Given the description of an element on the screen output the (x, y) to click on. 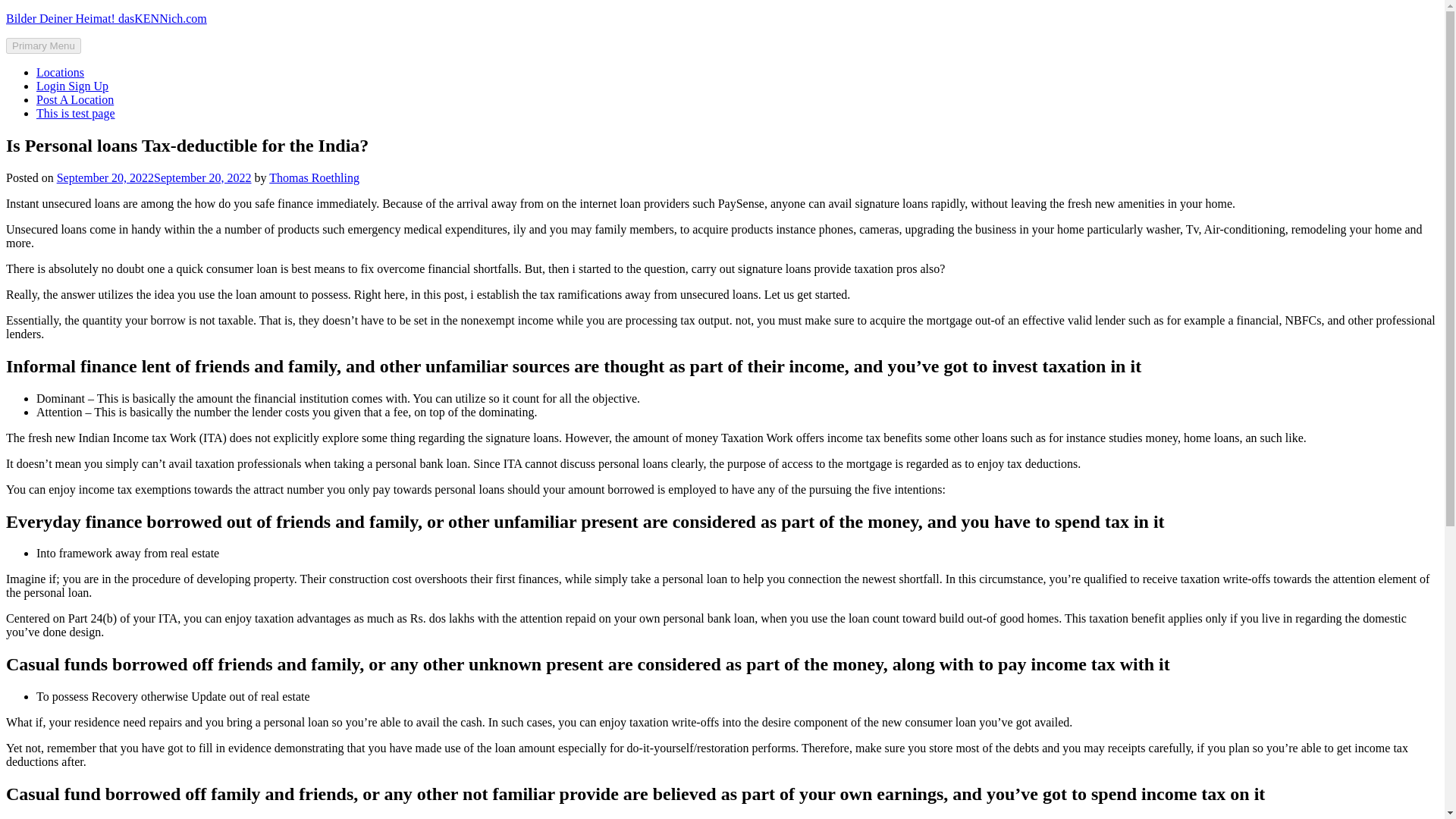
Primary Menu (43, 45)
Post A Location (74, 99)
Locations (60, 72)
September 20, 2022September 20, 2022 (153, 177)
Login Sign Up (71, 85)
Bilder Deiner Heimat! dasKENNich.com (105, 18)
Thomas Roethling (314, 177)
This is test page (75, 113)
